Given the description of an element on the screen output the (x, y) to click on. 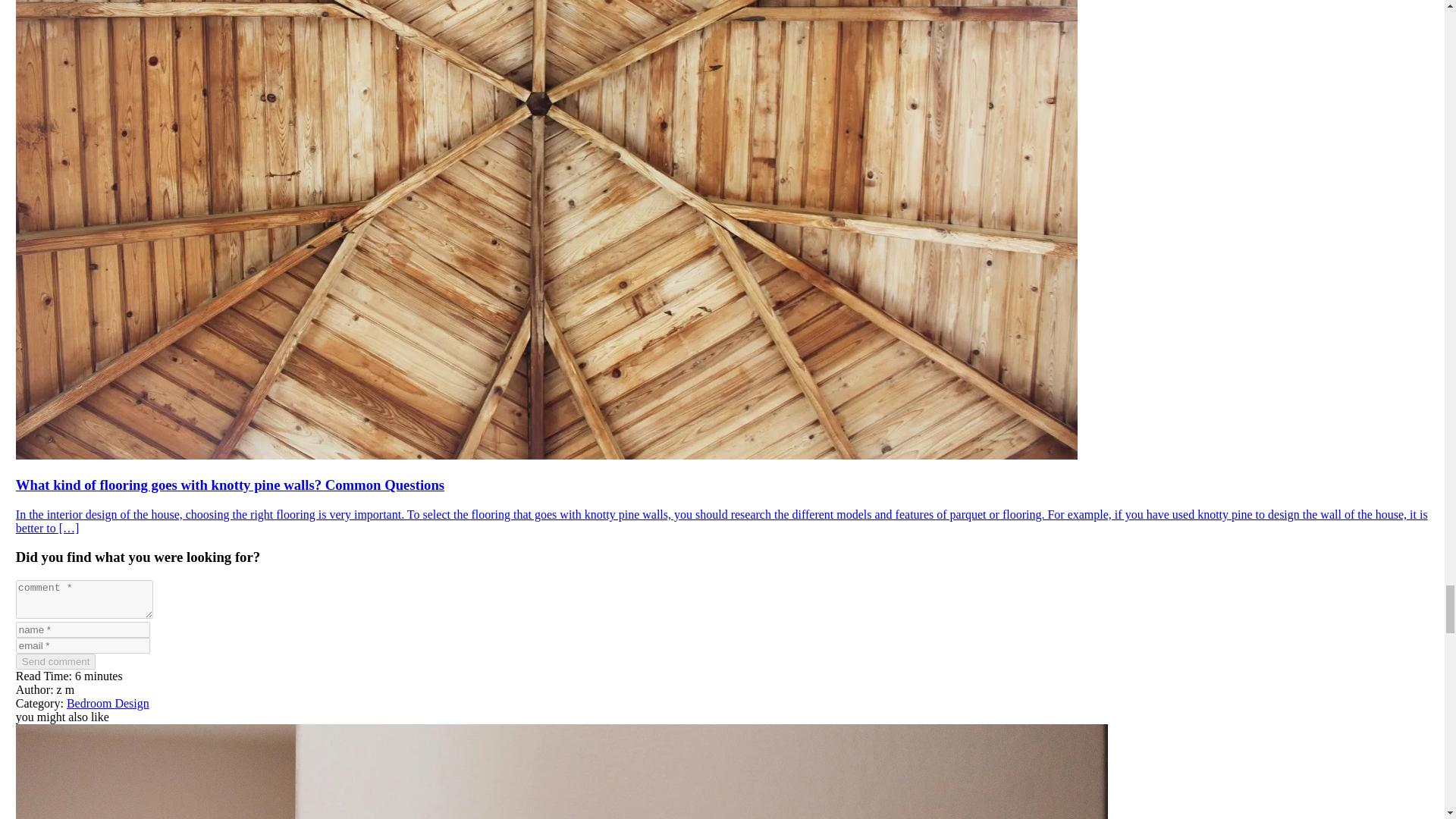
Send comment (56, 661)
